Given the description of an element on the screen output the (x, y) to click on. 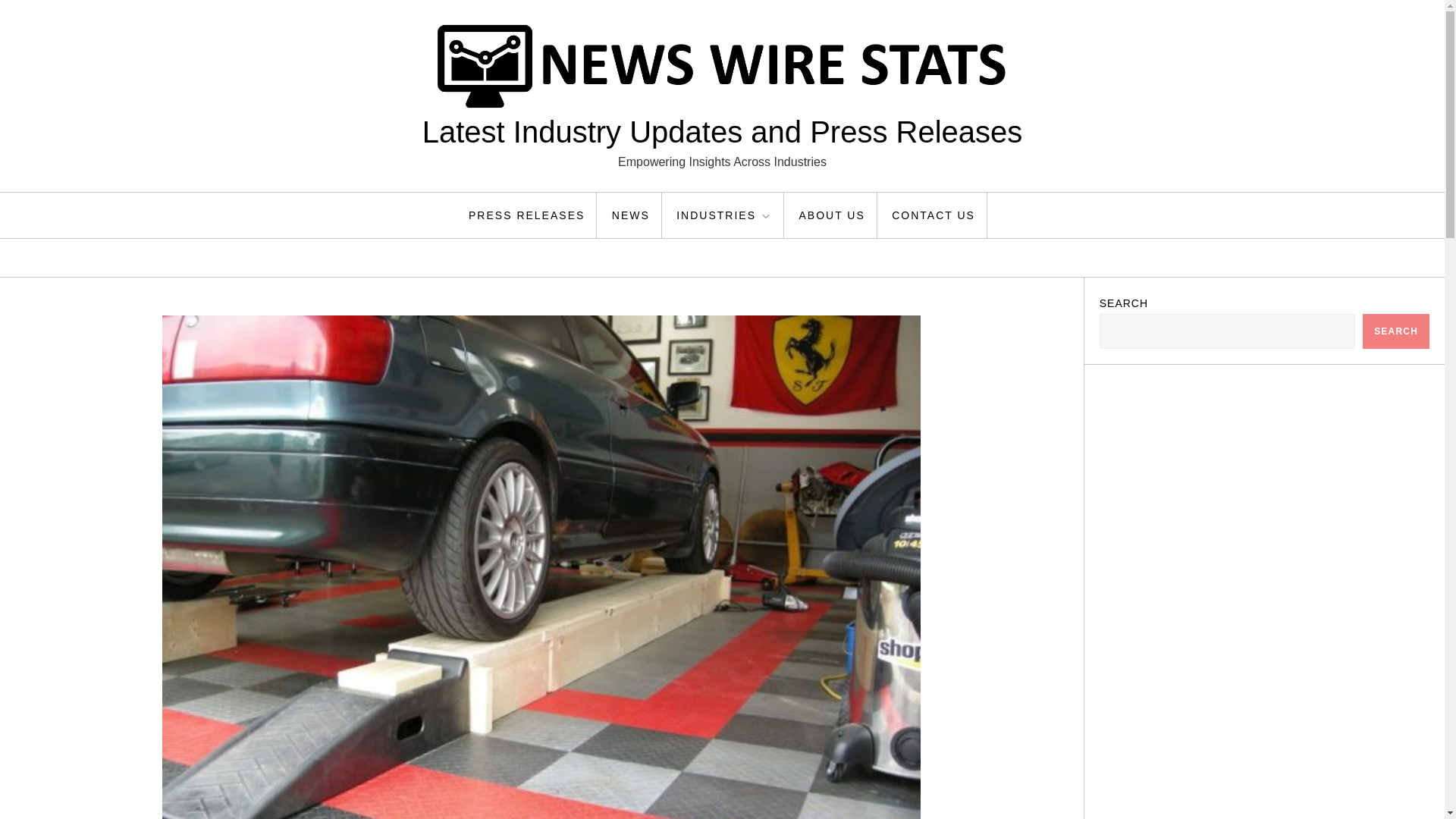
SEARCH (1395, 330)
INDUSTRIES (724, 215)
PRESS RELEASES (526, 215)
CONTACT US (933, 215)
Latest Industry Updates and Press Releases (722, 131)
NEWS (630, 215)
ABOUT US (831, 215)
